Given the description of an element on the screen output the (x, y) to click on. 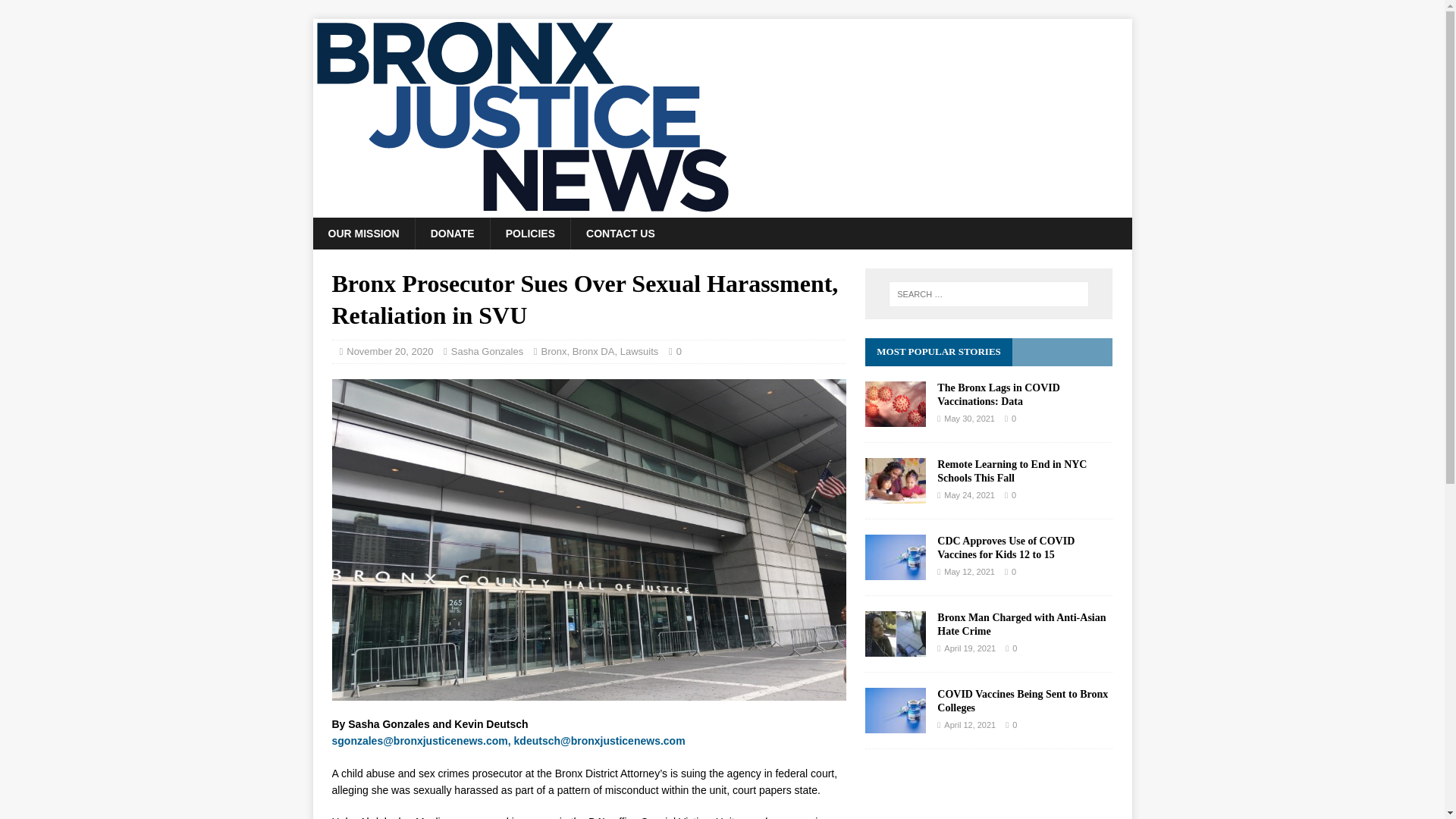
Remote Learning to End in NYC Schools This Fall (895, 494)
Bronx Man Charged with Anti-Asian Hate Crime (1021, 624)
Lawsuits (639, 351)
MOST POPULAR STORIES (938, 351)
Remote Learning to End in NYC Schools This Fall (1011, 471)
COVID Vaccines Being Sent to Bronx Colleges (1022, 700)
DONATE (451, 233)
CDC Approves Use of COVID Vaccines for Kids 12 to 15 (895, 571)
Bronx Man Charged with Anti-Asian Hate Crime (895, 647)
